Given the description of an element on the screen output the (x, y) to click on. 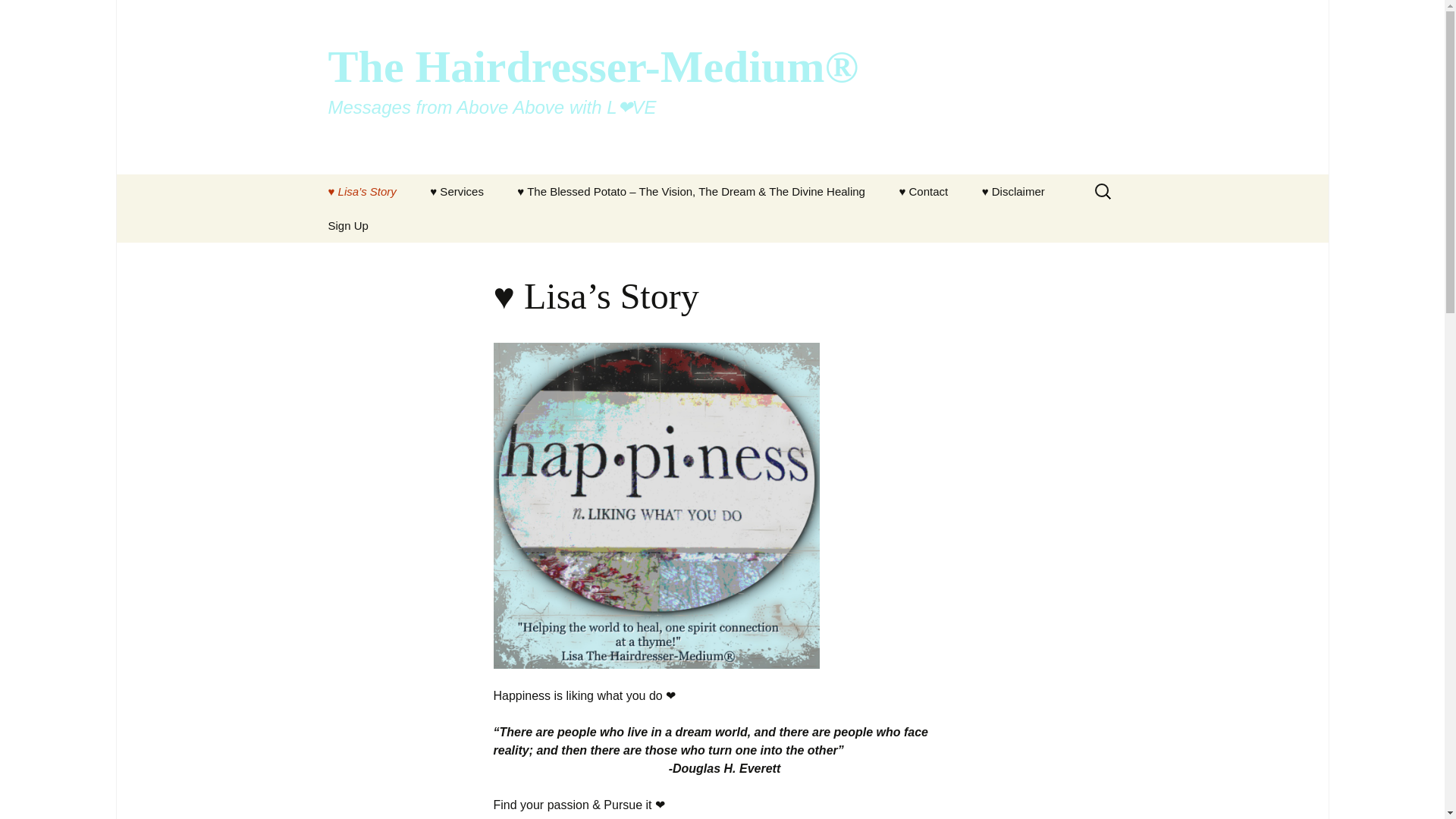
Search (18, 15)
Sign Up (347, 225)
